Given the description of an element on the screen output the (x, y) to click on. 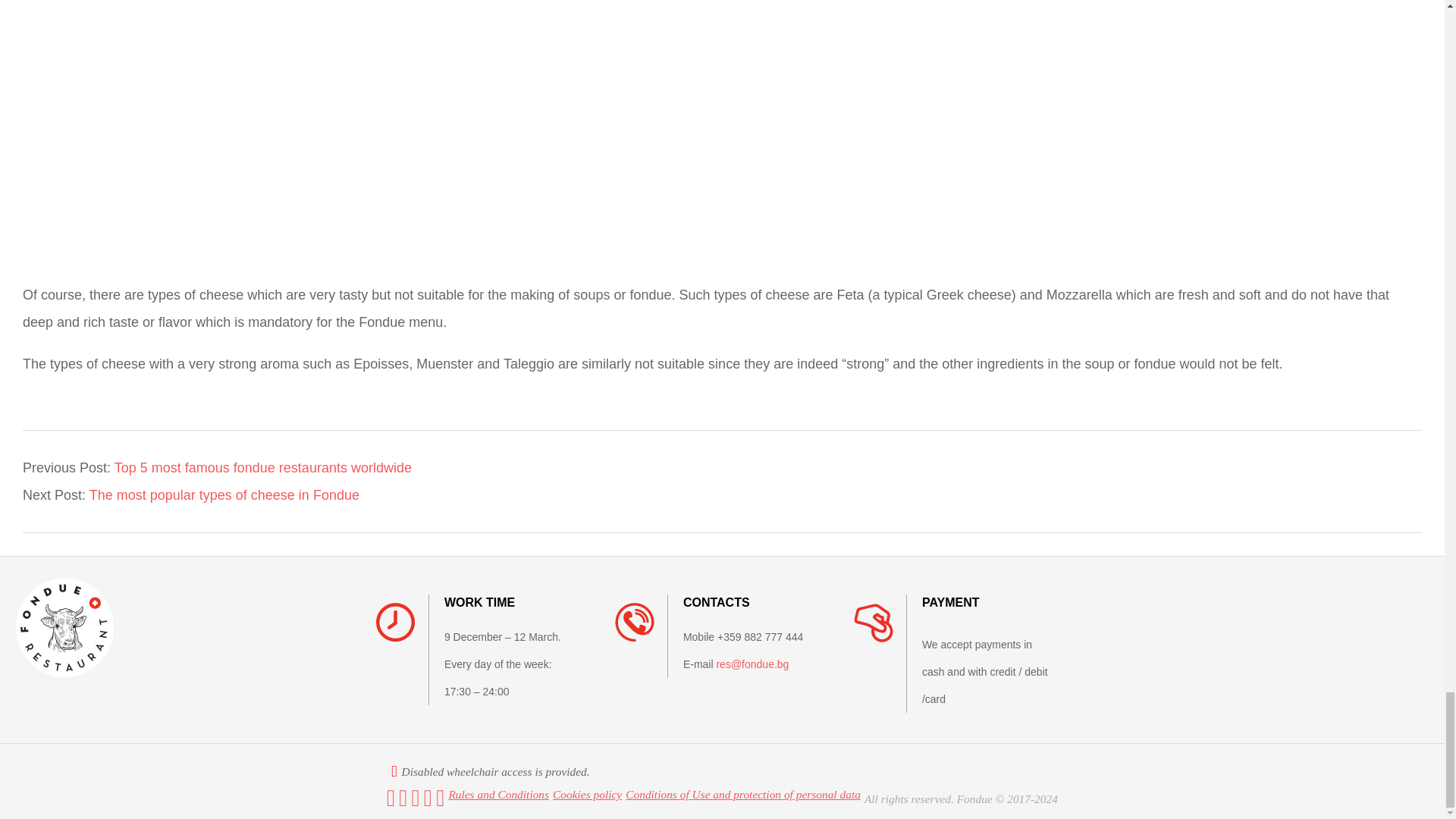
Top 5 most famous fondue restaurants worldwide (263, 467)
DMCA.com Protection Status (1019, 773)
The most popular types of cheese in Fondue (223, 494)
